Given the description of an element on the screen output the (x, y) to click on. 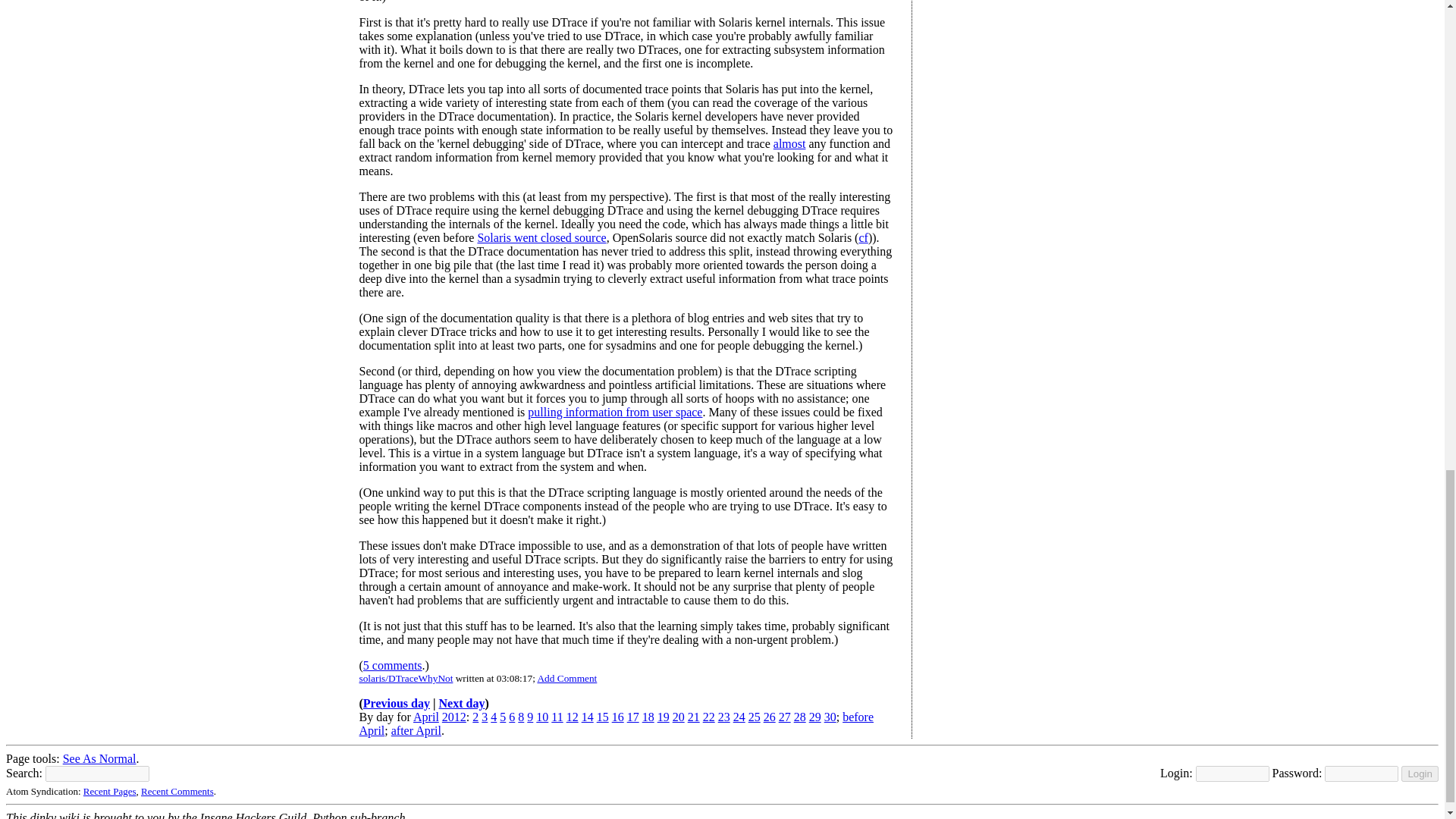
April (426, 716)
pulling information from user space (614, 411)
Next day (461, 703)
almost (789, 143)
Solaris went closed source (541, 237)
2012 (453, 716)
5 comments (392, 665)
Previous day (395, 703)
Add Comment (566, 677)
